Given the description of an element on the screen output the (x, y) to click on. 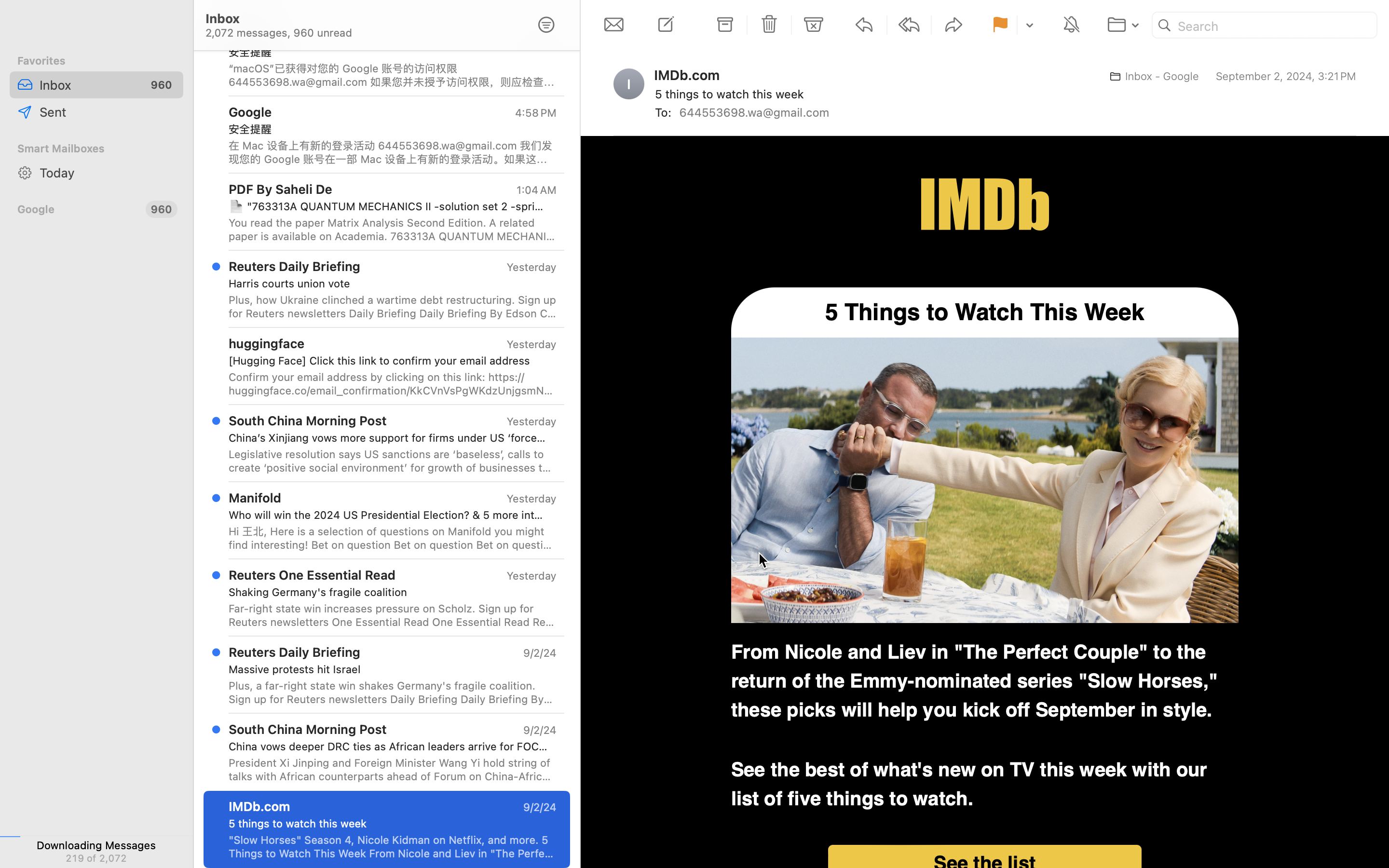
Hi 王北, Here is a selection of questions on Manifold you might find interesting! Bet on question Bet on question Bet on question Bet on question Bet on question Bet on question 🔎 Explore Manifold This e-mail has been sent to 王北, click here to unsubscribe from this type of notification. Element type: AXStaticText (392, 537)
Harris courts union vote Element type: AXStaticText (388, 283)
From Nicole and Liev in "The Perfect Couple" to the return of the Emmy-nominated series "Slow Horses," these picks will help you kick off September in style. Element type: AXStaticText (974, 681)
4:58 PM Element type: AXStaticText (535, 35)
Inbox Element type: AXStaticText (360, 800)
